Given the description of an element on the screen output the (x, y) to click on. 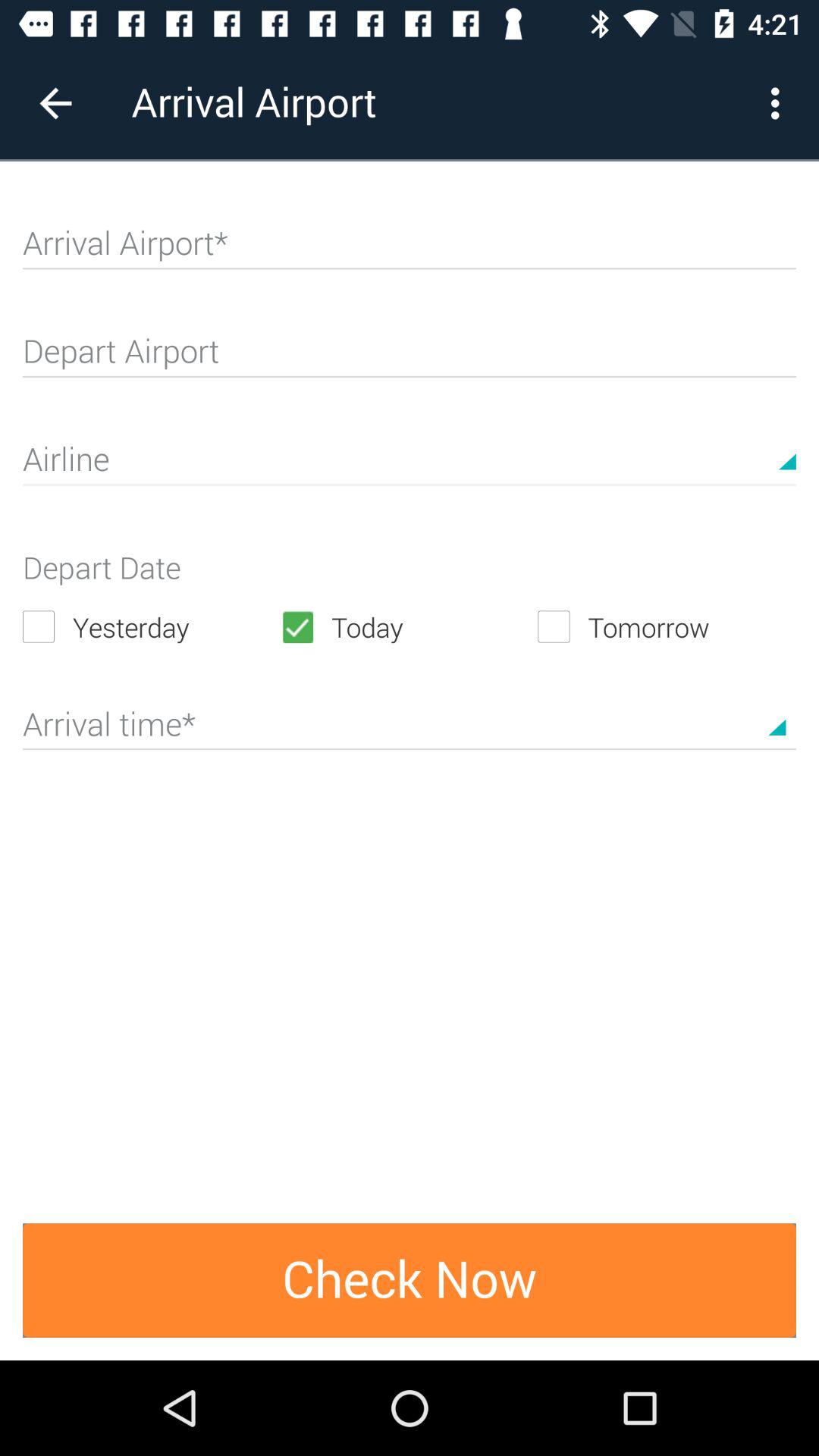
open the yesterday (151, 626)
